Given the description of an element on the screen output the (x, y) to click on. 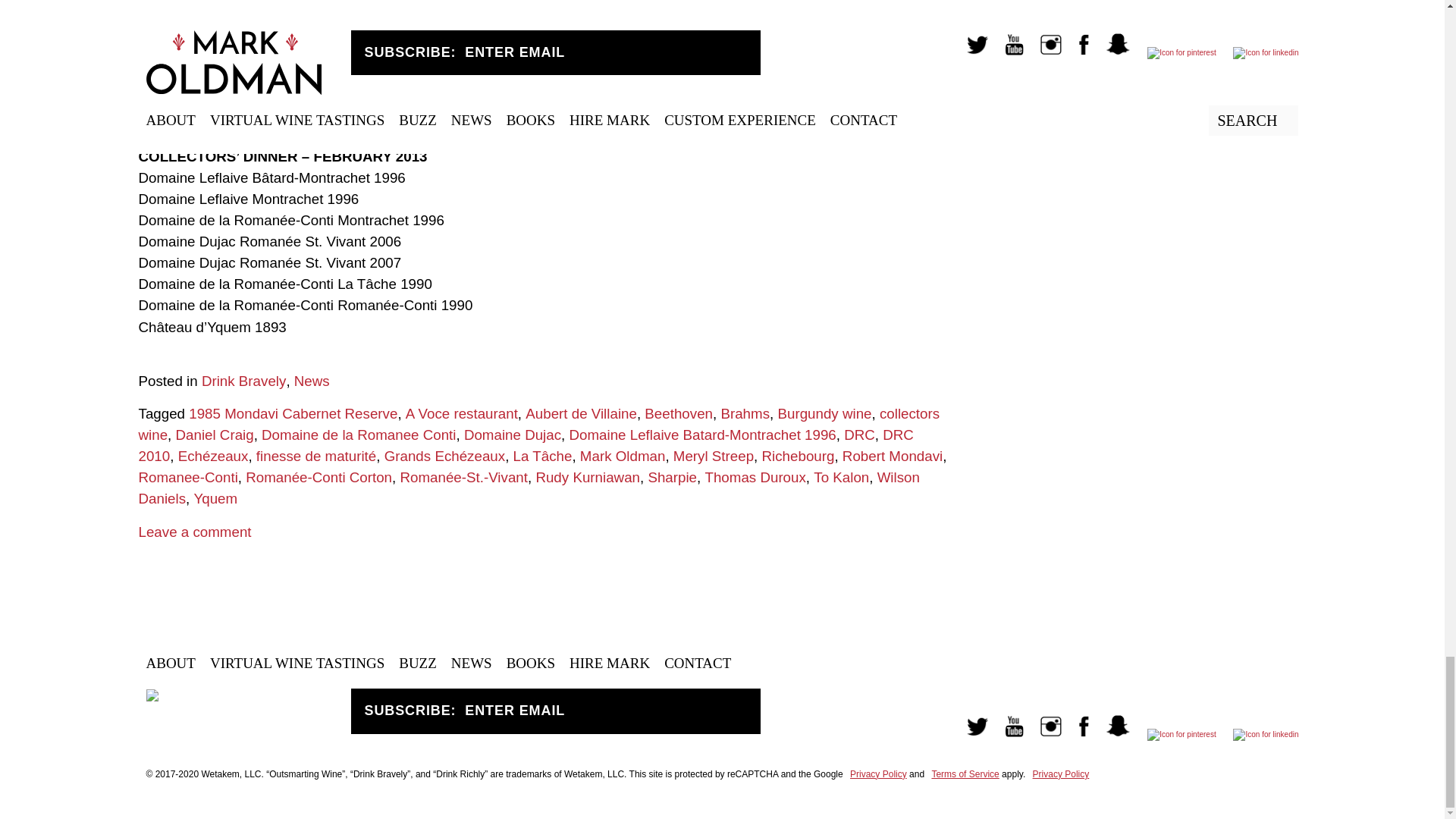
Twitter (970, 734)
A Voce restaurant (462, 413)
1985 Mondavi Cabernet Reserve (293, 413)
Drink Bravely (243, 381)
News (312, 381)
